Given the description of an element on the screen output the (x, y) to click on. 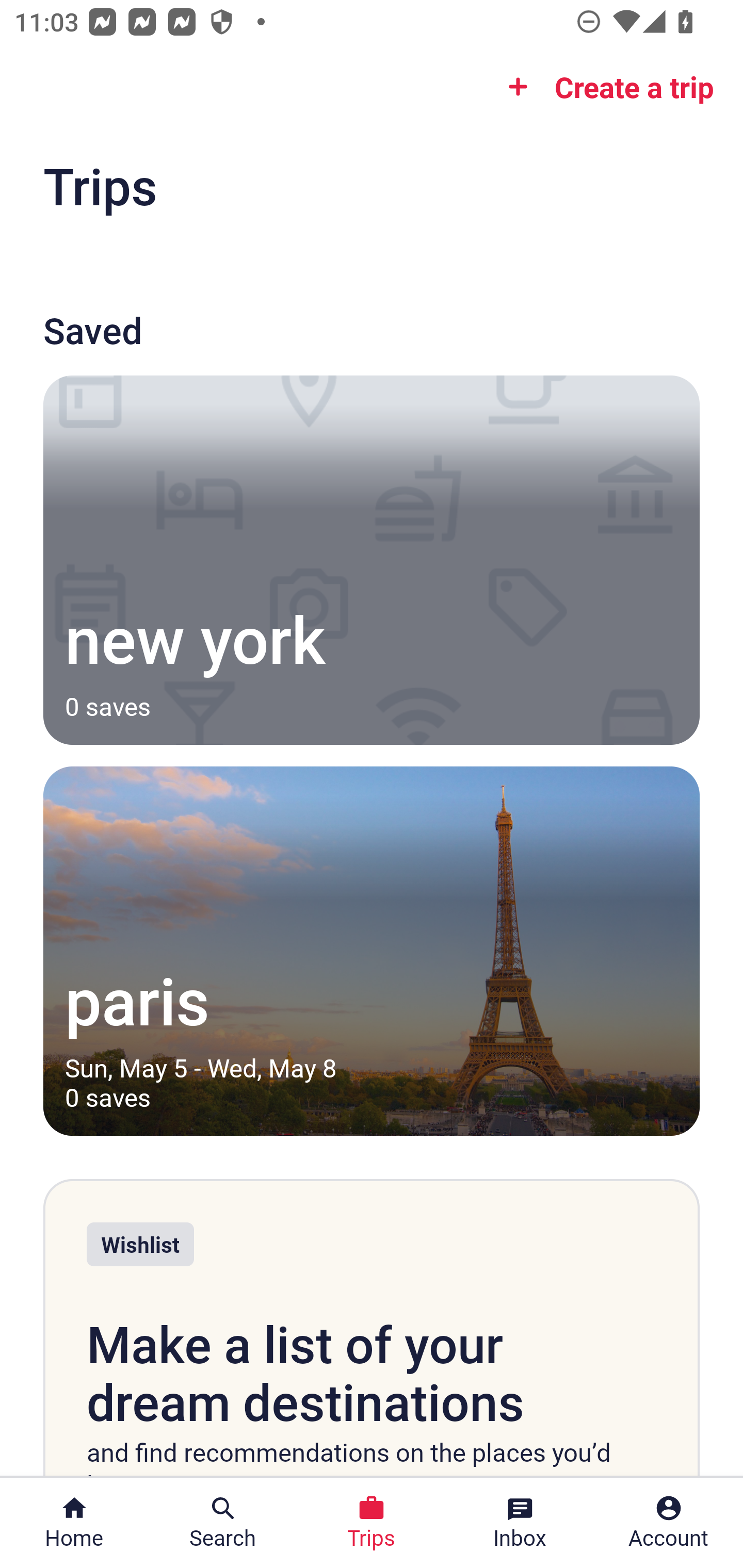
Create a trip Create a trip Button (605, 86)
new york. 0 saves.  Button new york 0 saves (371, 559)
Home Home Button (74, 1522)
Search Search Button (222, 1522)
Inbox Inbox Button (519, 1522)
Account Profile. Button (668, 1522)
